Given the description of an element on the screen output the (x, y) to click on. 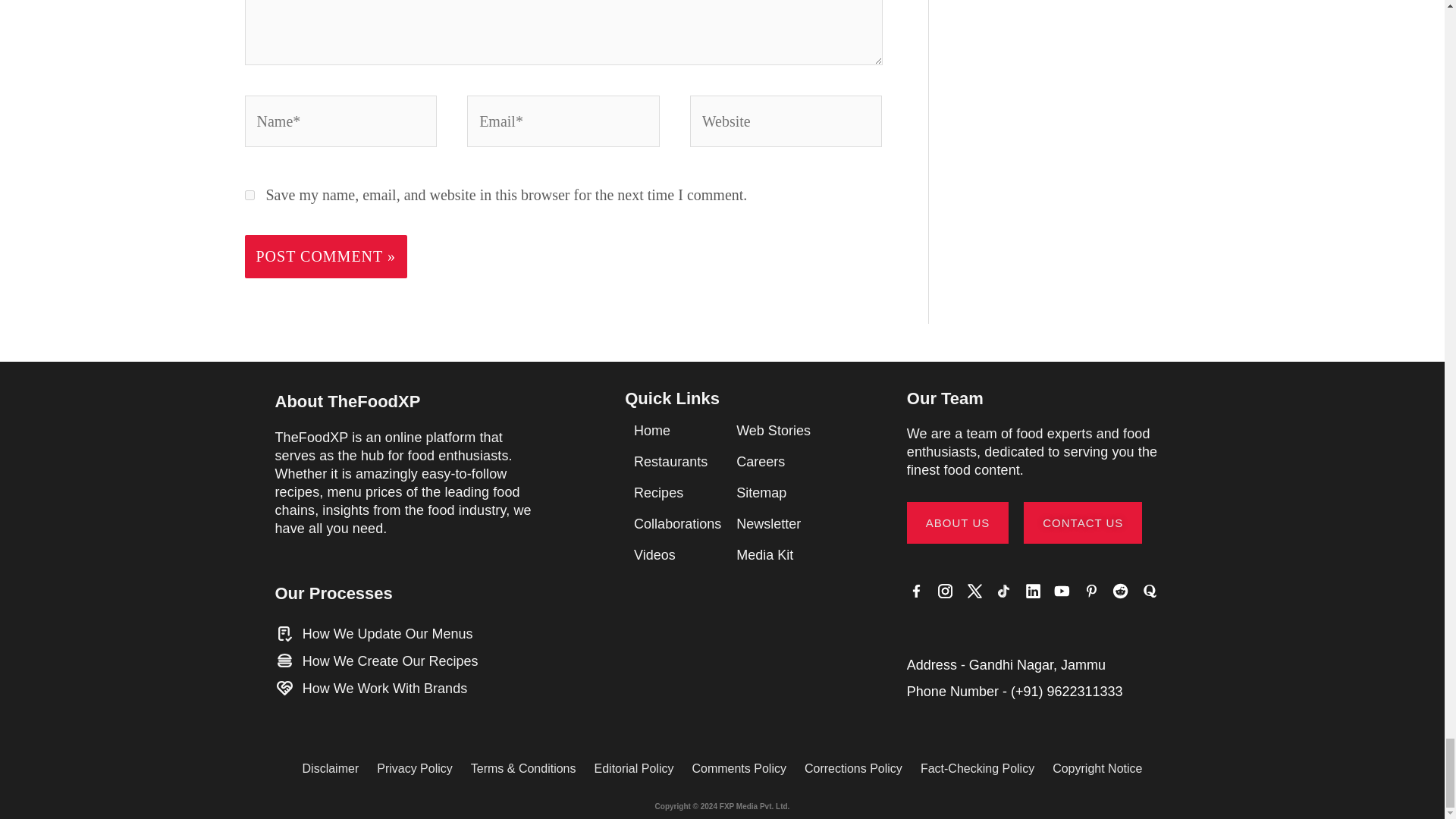
yes (248, 194)
